Given the description of an element on the screen output the (x, y) to click on. 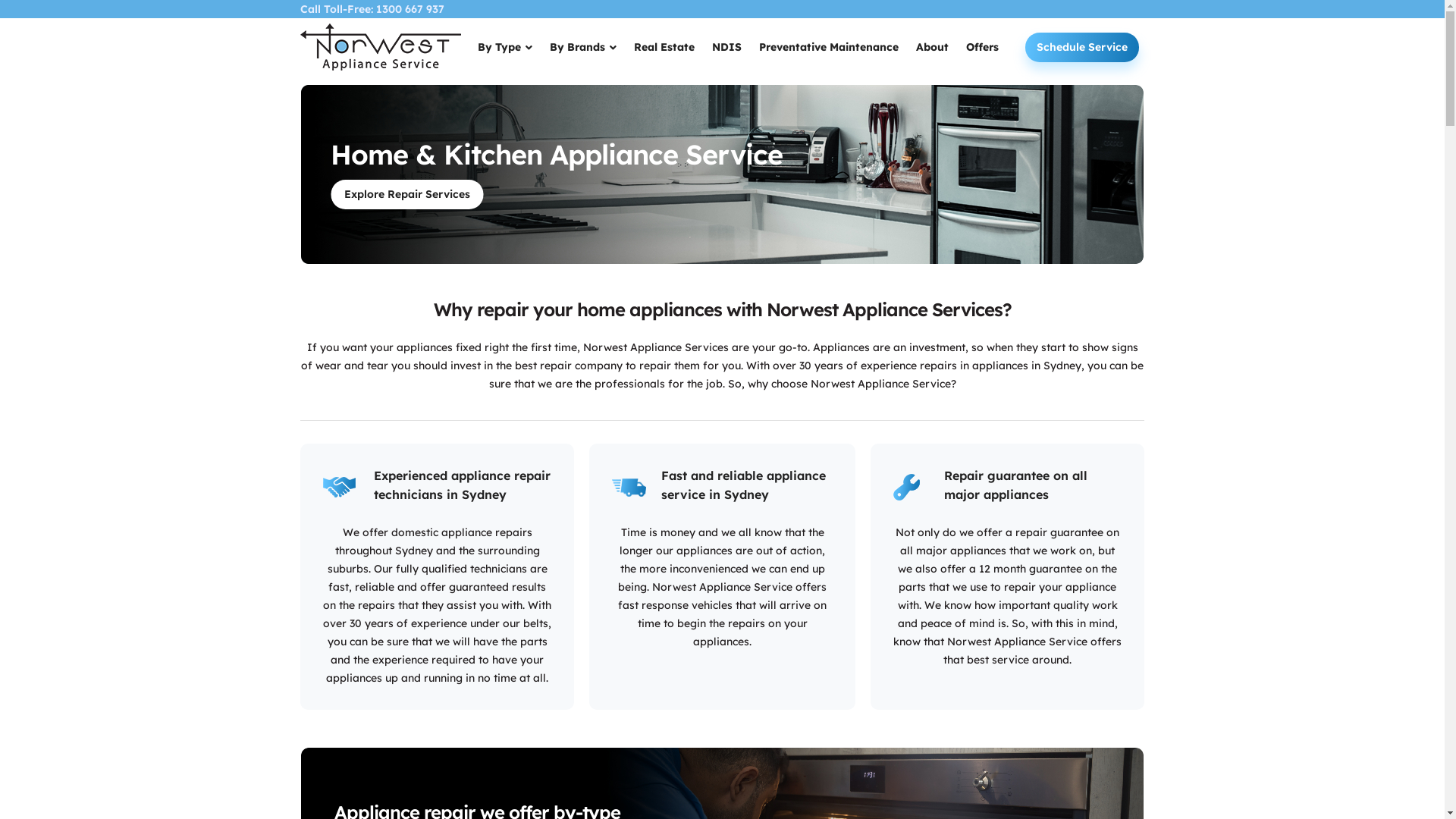
Explore Repair Services Element type: text (406, 194)
By Brands Element type: text (583, 46)
Offers Element type: text (982, 46)
About Element type: text (932, 46)
NDIS Element type: text (726, 46)
Real Estate Element type: text (664, 46)
By Type Element type: text (505, 46)
Preventative Maintenance Element type: text (828, 46)
Schedule Service Element type: text (1082, 47)
Call Toll-Free: 1300 667 937 Element type: text (372, 9)
